Given the description of an element on the screen output the (x, y) to click on. 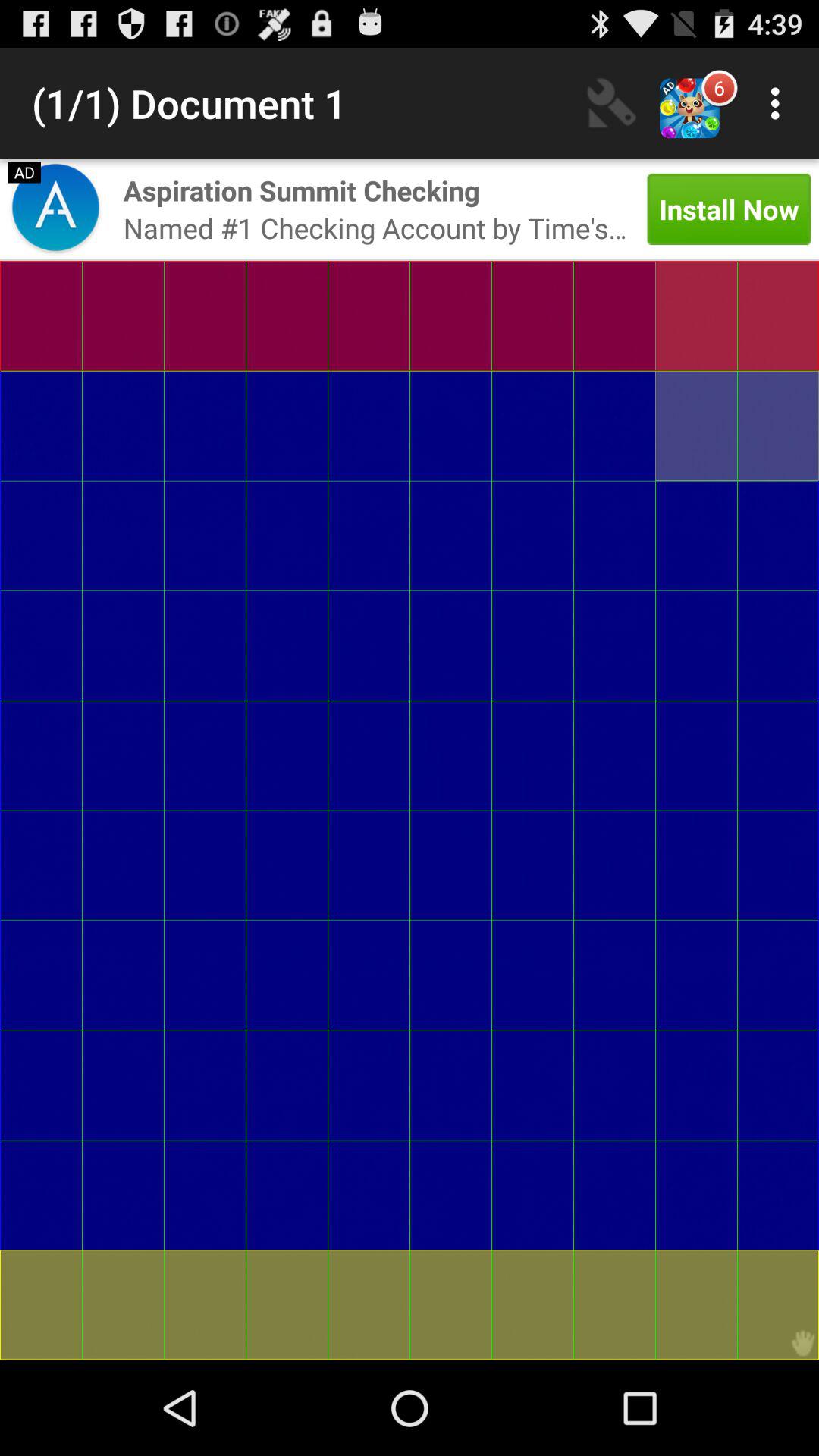
swipe to the named 1 checking item (375, 227)
